Given the description of an element on the screen output the (x, y) to click on. 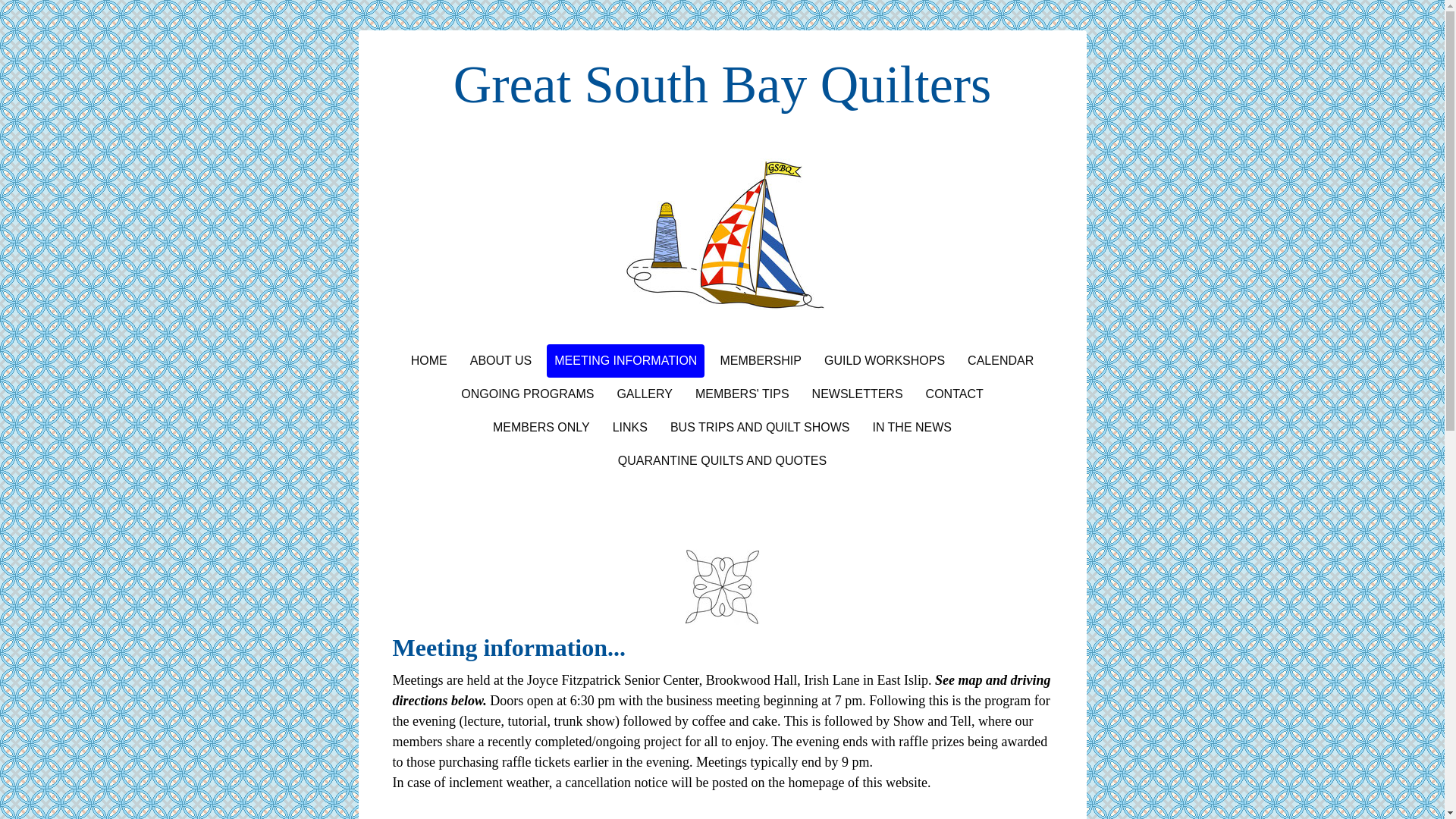
MEETING INFORMATION (625, 360)
HOME (428, 360)
GALLERY (643, 394)
QUARANTINE QUILTS AND QUOTES (722, 460)
ABOUT US (501, 360)
LINKS (630, 427)
ONGOING PROGRAMS (526, 394)
IN THE NEWS (911, 427)
BUS TRIPS AND QUILT SHOWS (759, 427)
MEMBERSHIP (760, 360)
NEWSLETTERS (858, 394)
GUILD WORKSHOPS (884, 360)
Great South Bay Quilters (722, 84)
CALENDAR (1000, 360)
CONTACT (954, 394)
